Given the description of an element on the screen output the (x, y) to click on. 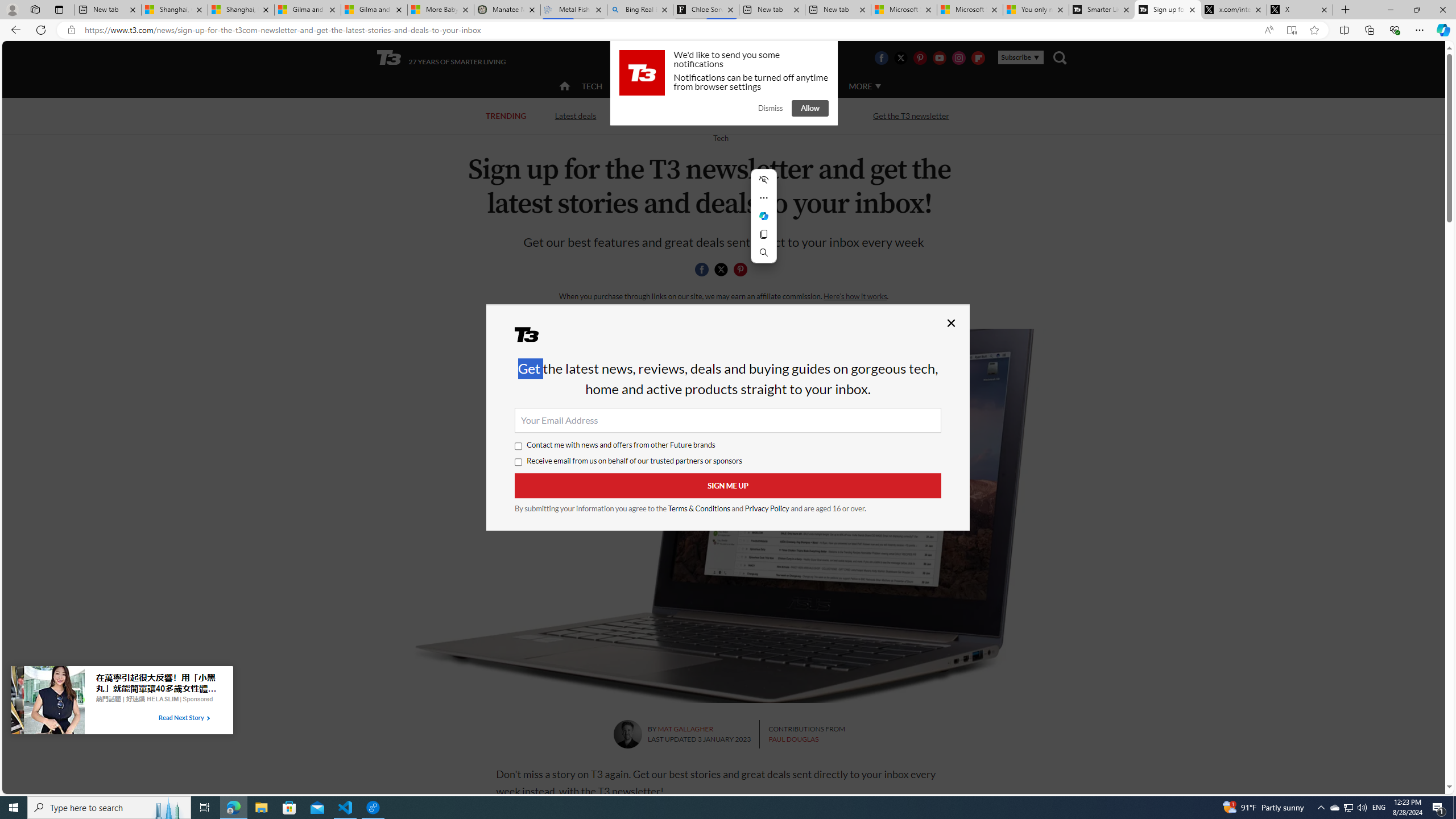
Split screen (1344, 29)
Back to Class 2024 (670, 115)
Share this page on Pintrest (739, 269)
Refresh (40, 29)
TECH (591, 85)
Back to Class 2024 (669, 115)
Visit us on Instagram (958, 57)
T3 newsletter (723, 515)
Chloe Sorvino (706, 9)
Return to Tech (720, 137)
